Given the description of an element on the screen output the (x, y) to click on. 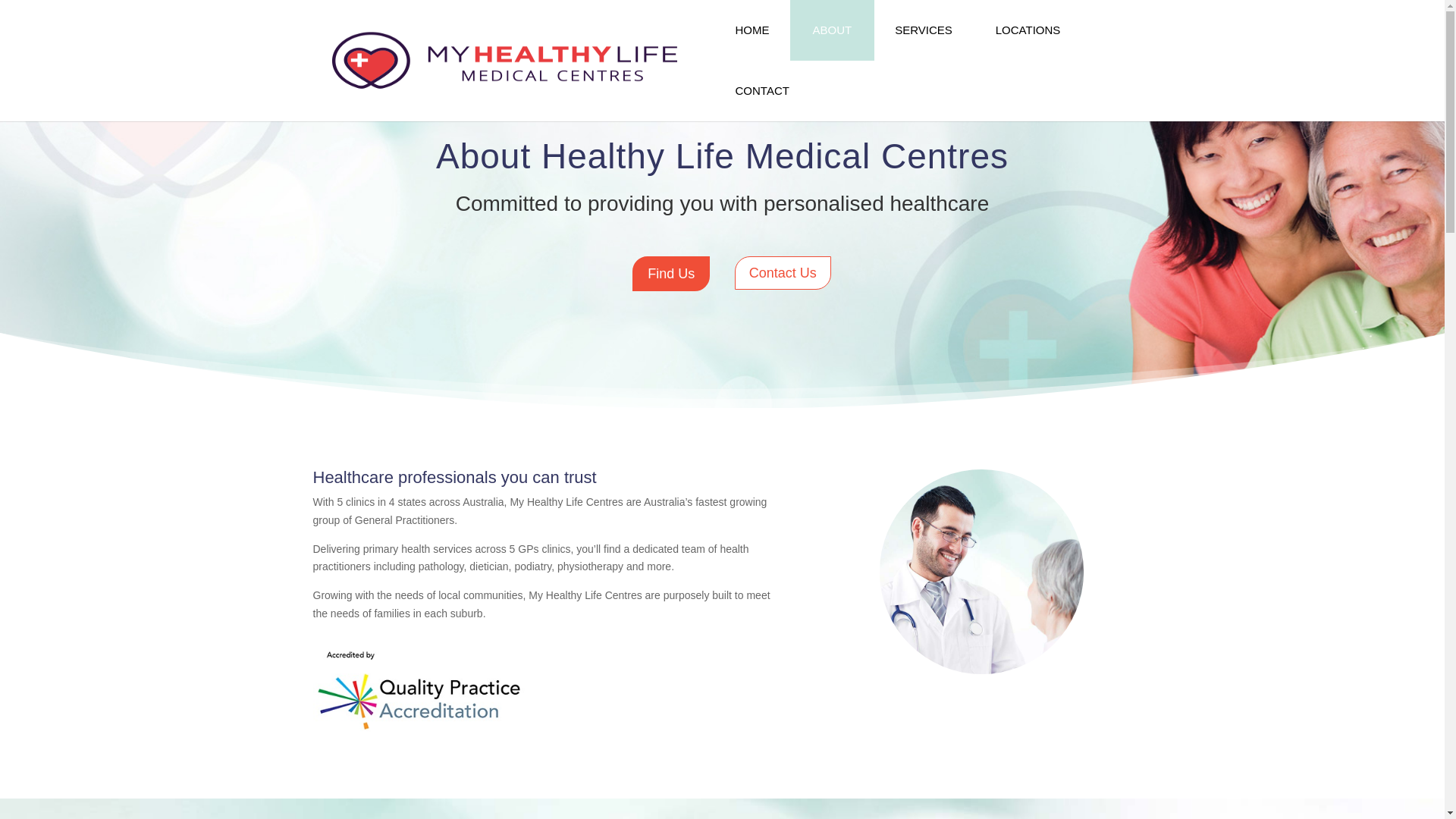
ABOUT Element type: text (832, 30)
Contact Us Element type: text (782, 272)
Find Us Element type: text (670, 273)
CONTACT Element type: text (762, 90)
LOCATIONS Element type: text (1027, 30)
HOME Element type: text (752, 30)
SERVICES Element type: text (923, 30)
